Given the description of an element on the screen output the (x, y) to click on. 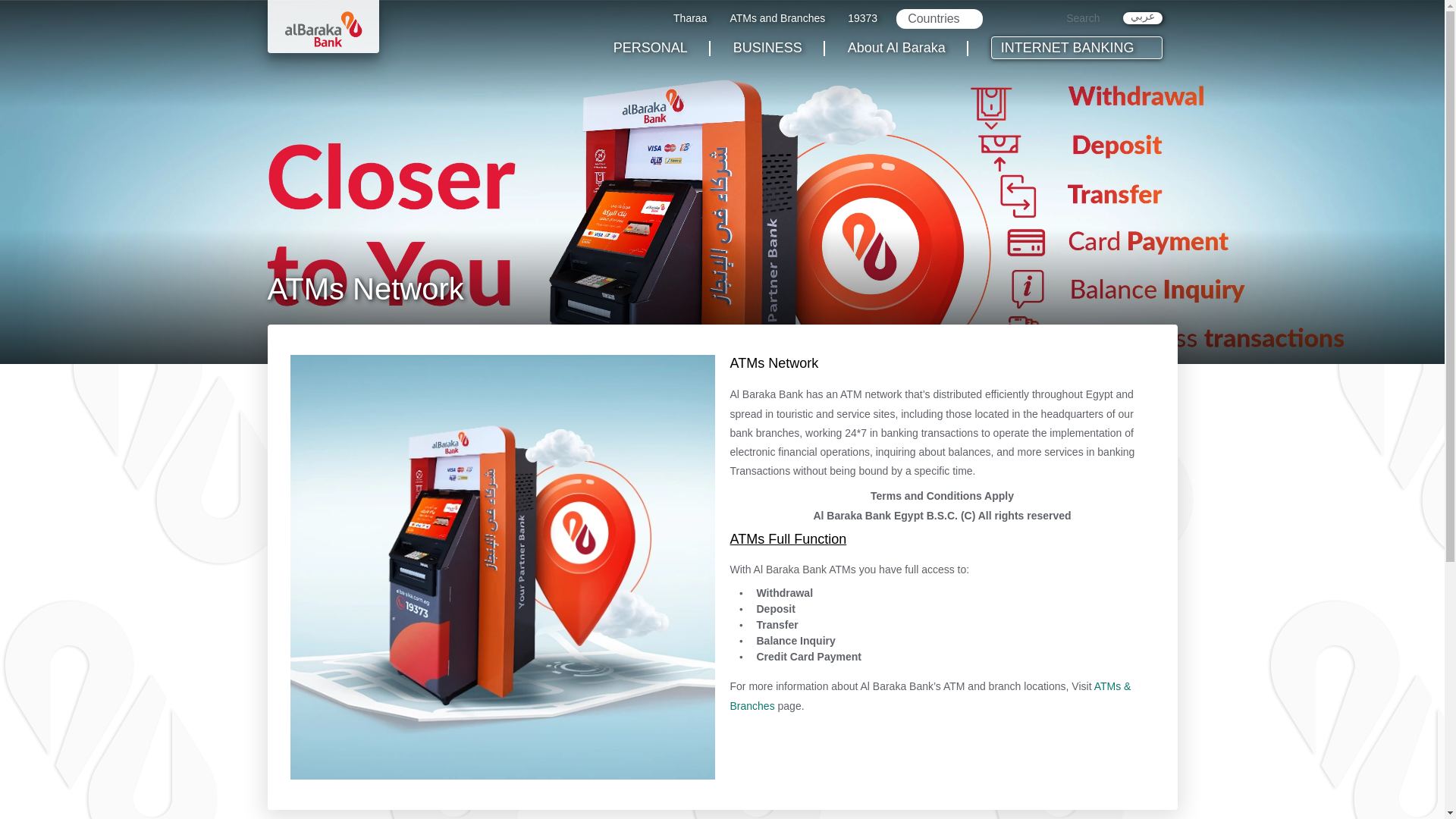
Search (1075, 18)
